Given the description of an element on the screen output the (x, y) to click on. 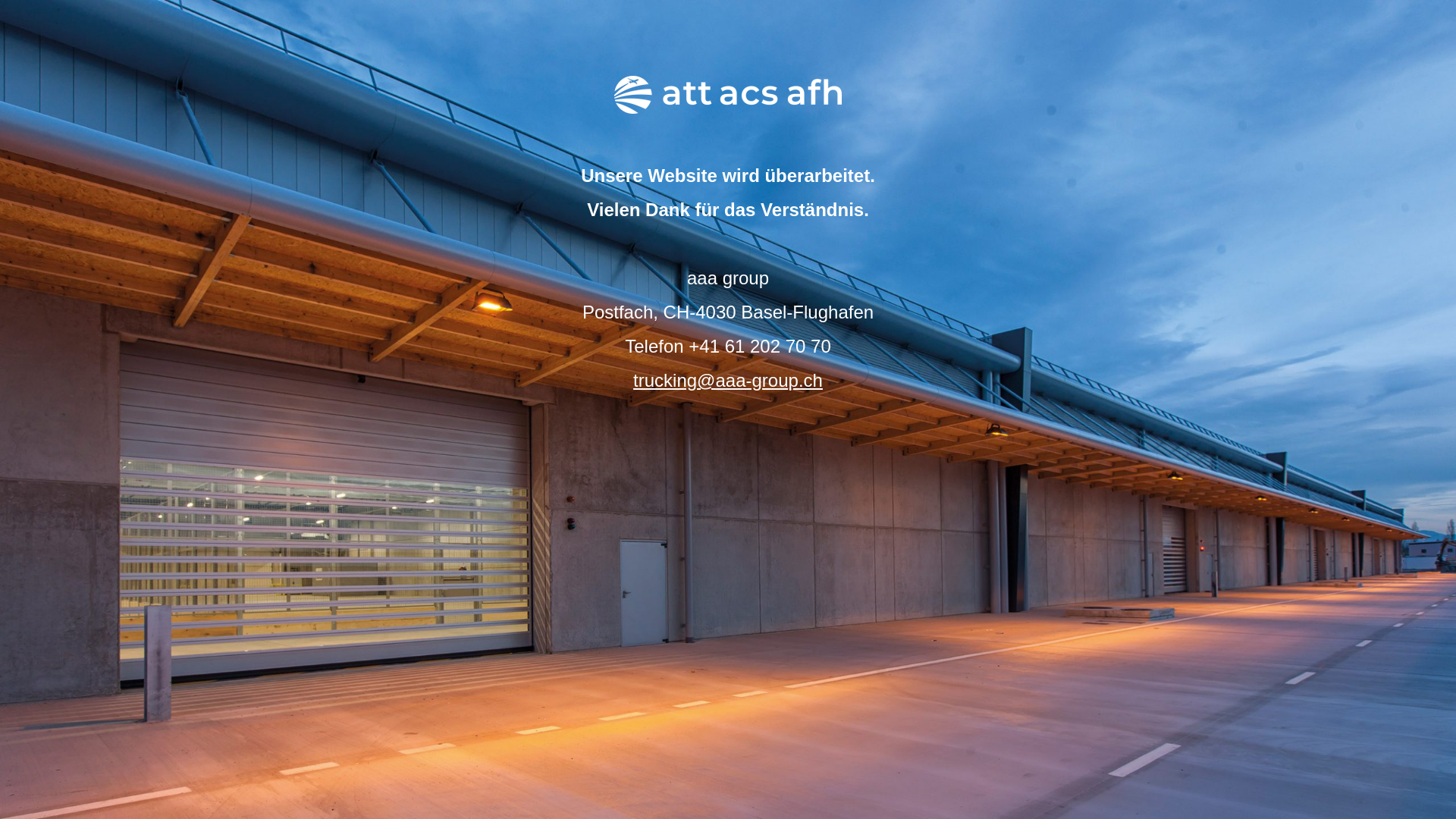
trucking@aaa-group.ch Element type: text (727, 380)
